Given the description of an element on the screen output the (x, y) to click on. 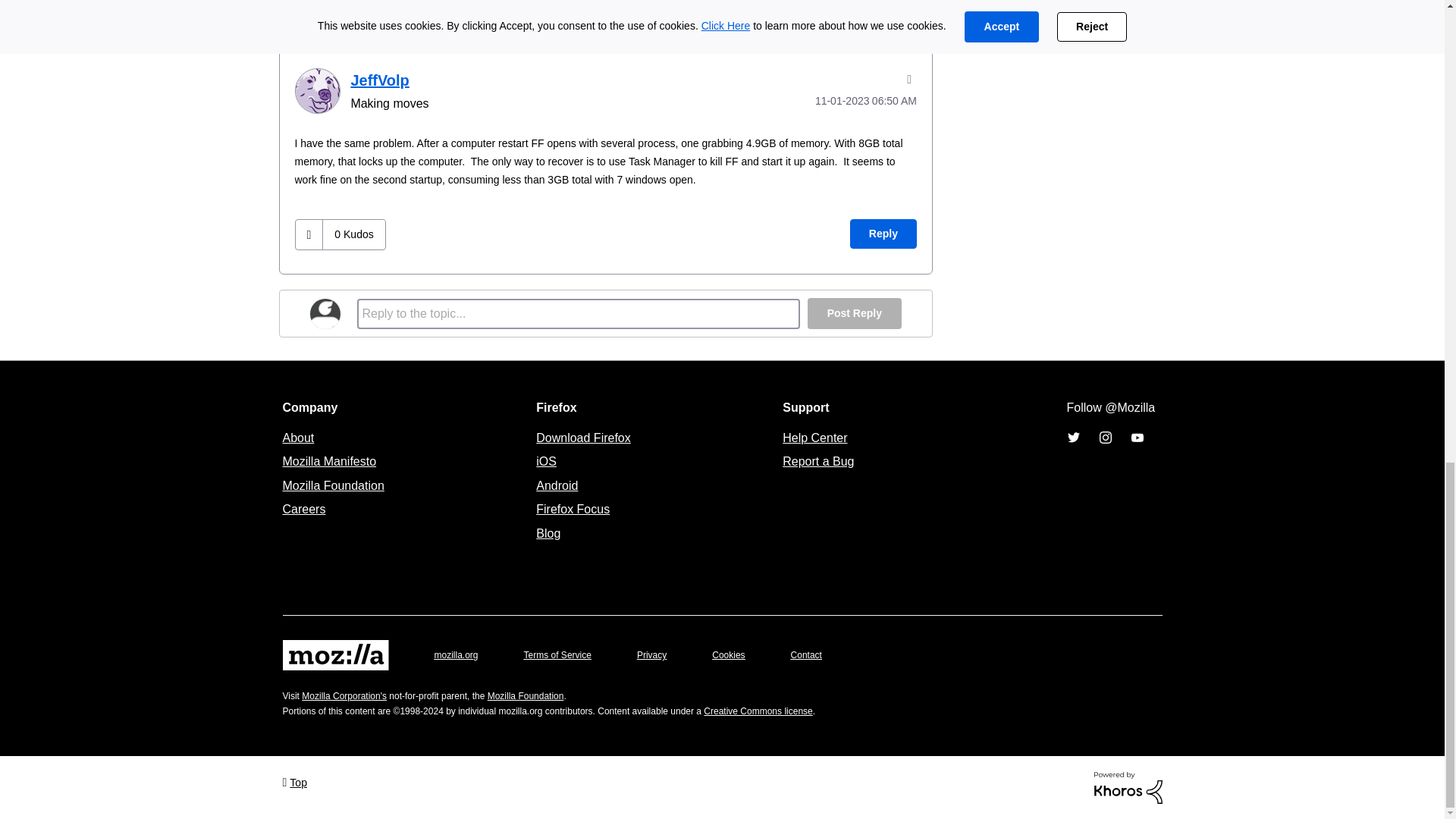
The total number of kudos this post has received. (353, 4)
Top (293, 781)
Top (293, 781)
JeffVolp (316, 90)
Click here to give kudos to this post. (309, 4)
